Given the description of an element on the screen output the (x, y) to click on. 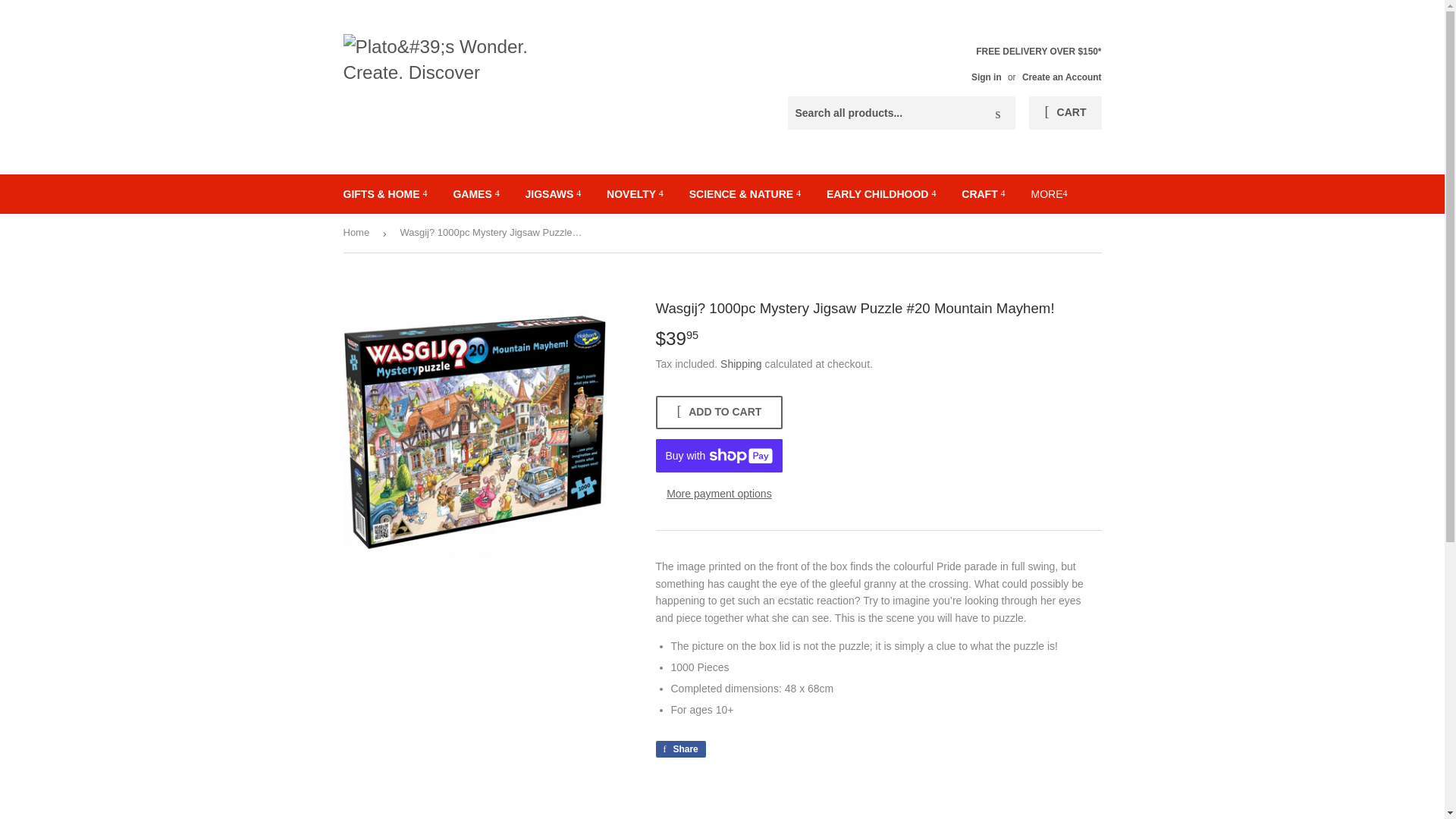
Sign in (986, 77)
Search (997, 113)
CART (1064, 112)
Create an Account (1062, 77)
Share on Facebook (679, 749)
